Given the description of an element on the screen output the (x, y) to click on. 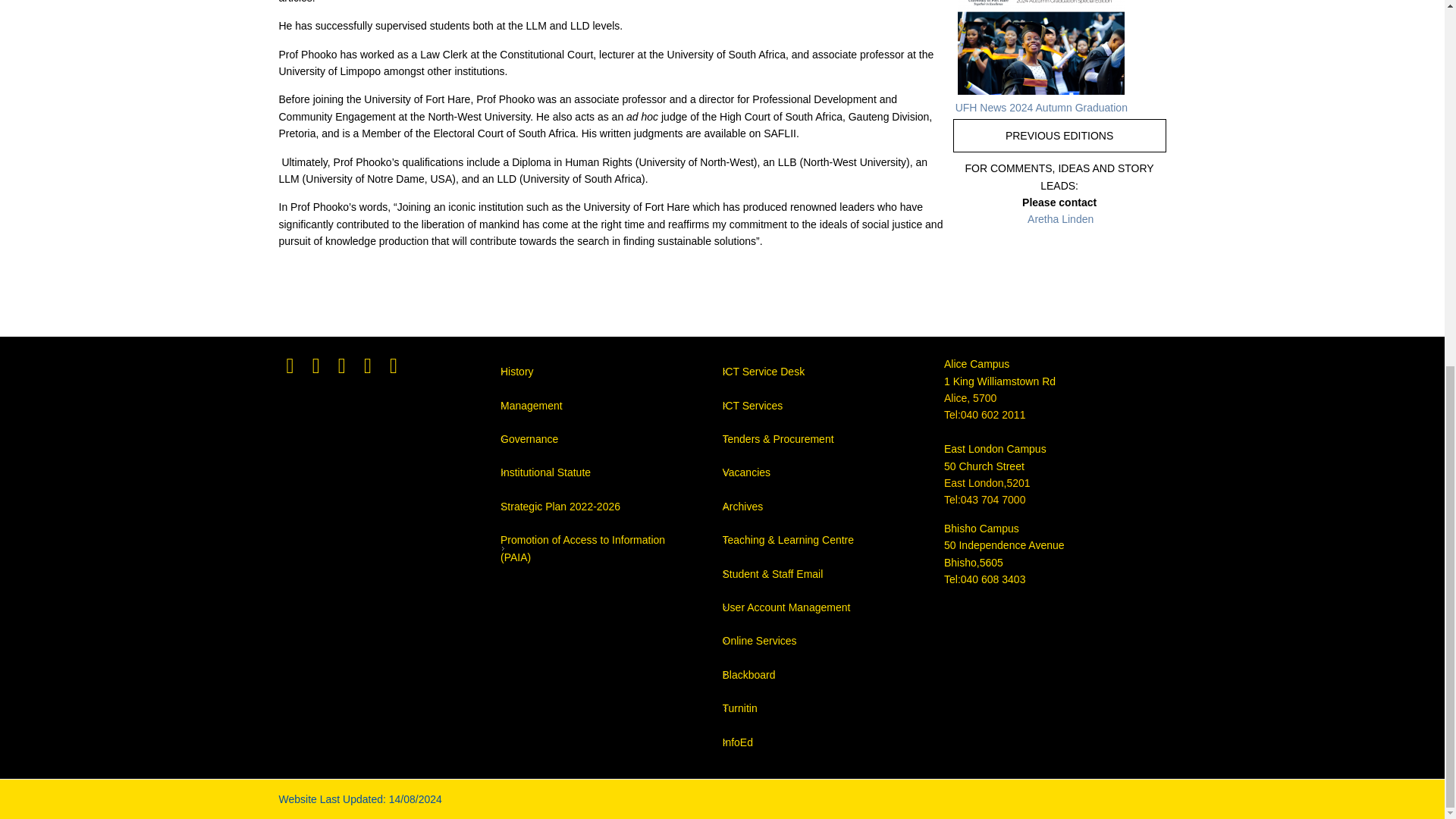
History (517, 371)
Aretha Linden (1060, 218)
Governance (528, 439)
Strategic Plan 2022-2026 (560, 506)
Management (531, 405)
Institutional Statute (545, 472)
UFH News 2024 Autumn Graduation (1040, 107)
PREVIOUS EDITIONS (1059, 135)
